Given the description of an element on the screen output the (x, y) to click on. 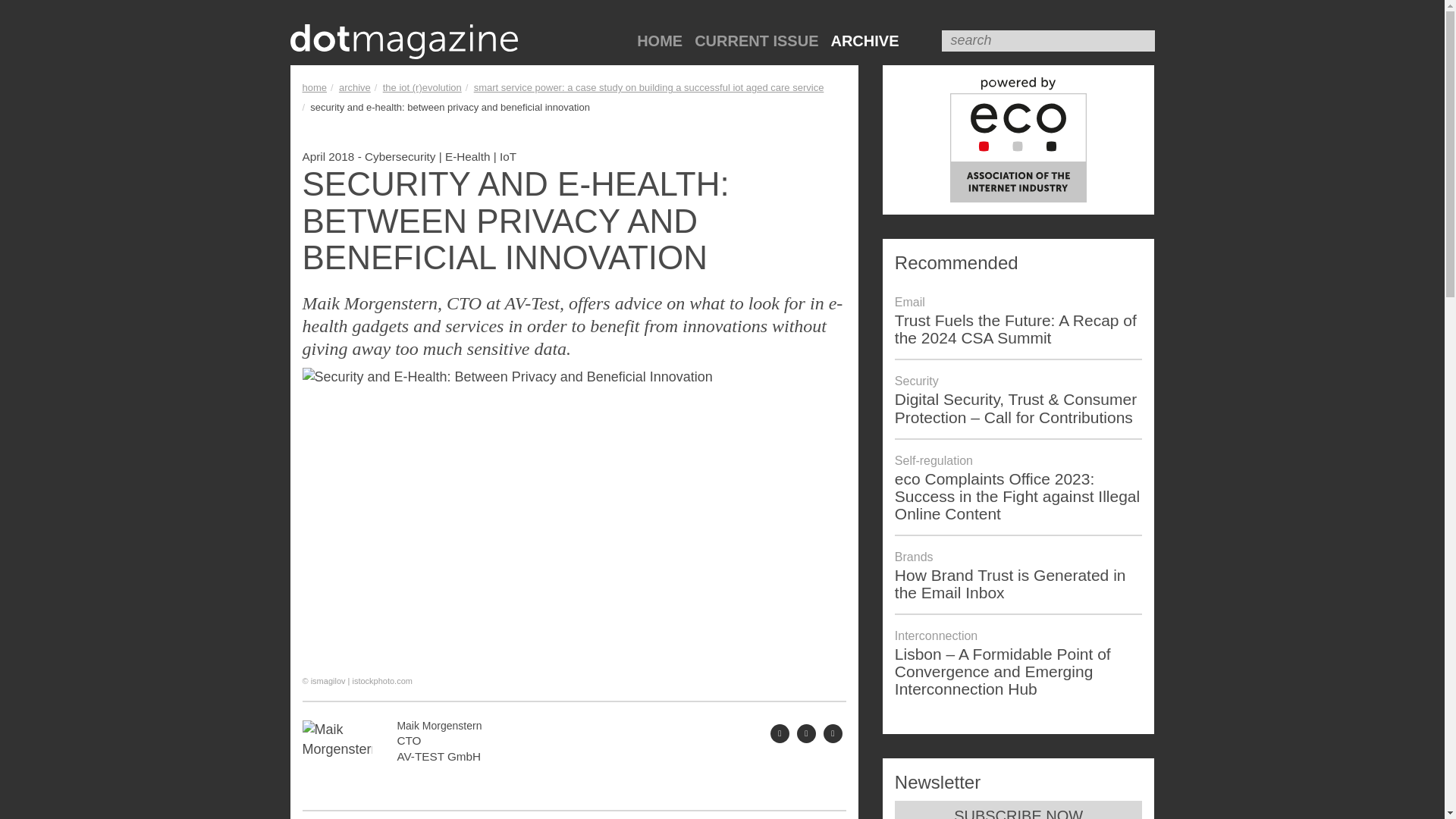
Cybersecurity (400, 155)
E-Health (467, 155)
ARCHIVE (864, 41)
home (313, 87)
CURRENT ISSUE (756, 41)
home (313, 87)
archive (355, 87)
IoT (507, 155)
SUBSCRIBE NOW (1018, 809)
